Given the description of an element on the screen output the (x, y) to click on. 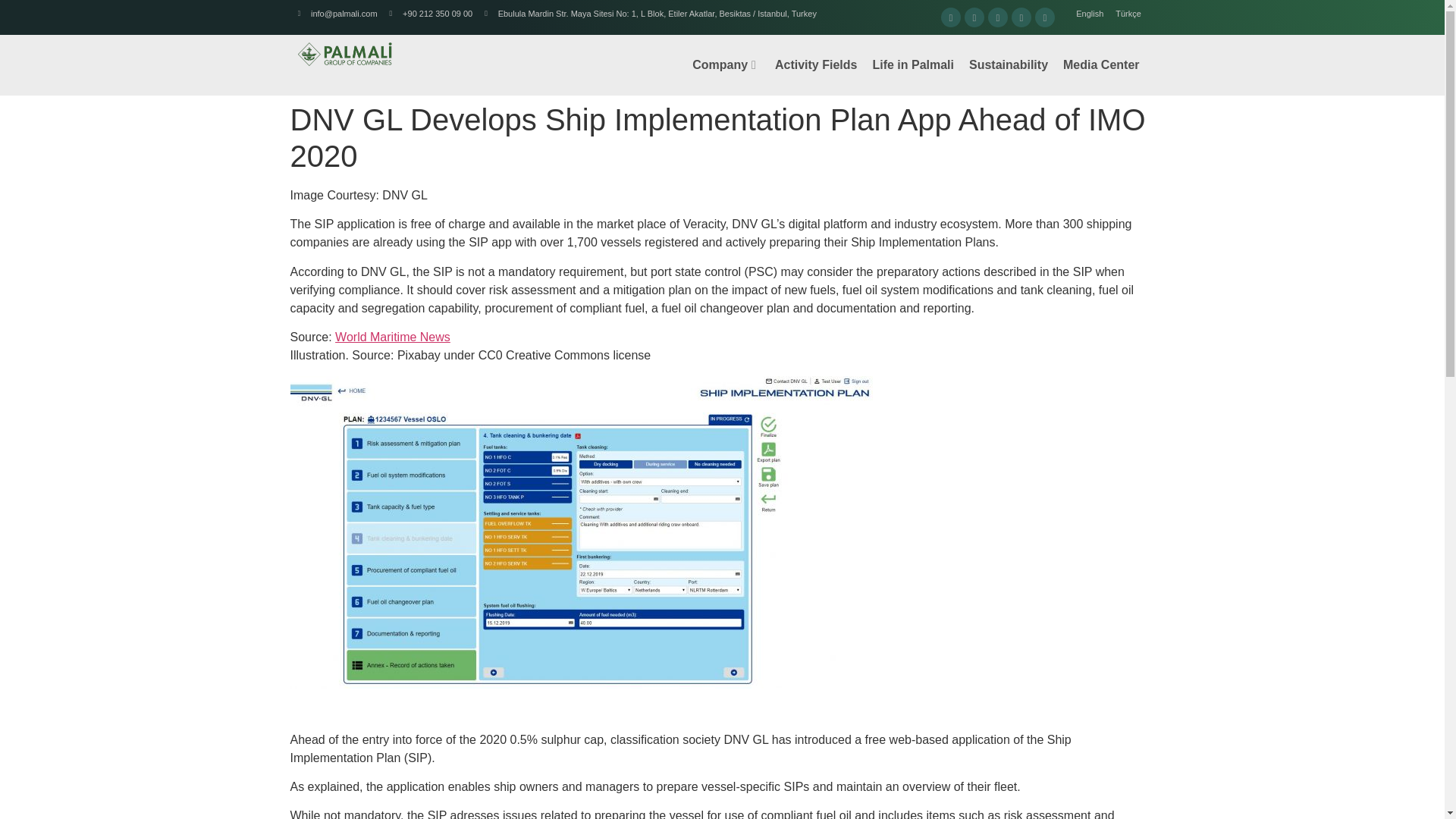
Media Center (1101, 64)
World Maritime News (391, 336)
Life in Palmali (912, 64)
Activity Fields (815, 64)
Sustainability (1007, 64)
Company (725, 64)
